Given the description of an element on the screen output the (x, y) to click on. 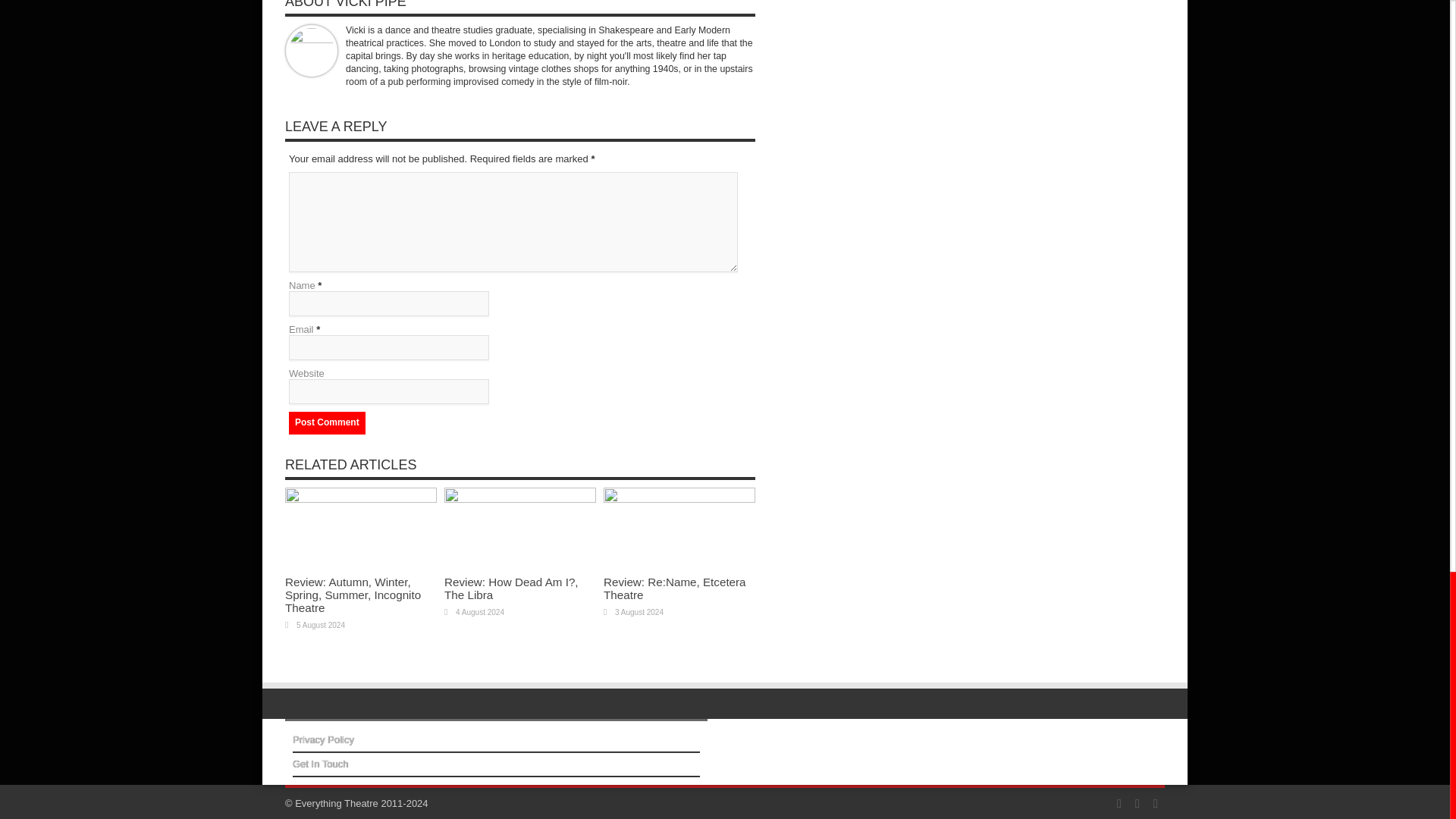
Permalink to Review: How Dead Am I?, The Libra (519, 499)
Good (412, 558)
Post Comment (326, 422)
